Given the description of an element on the screen output the (x, y) to click on. 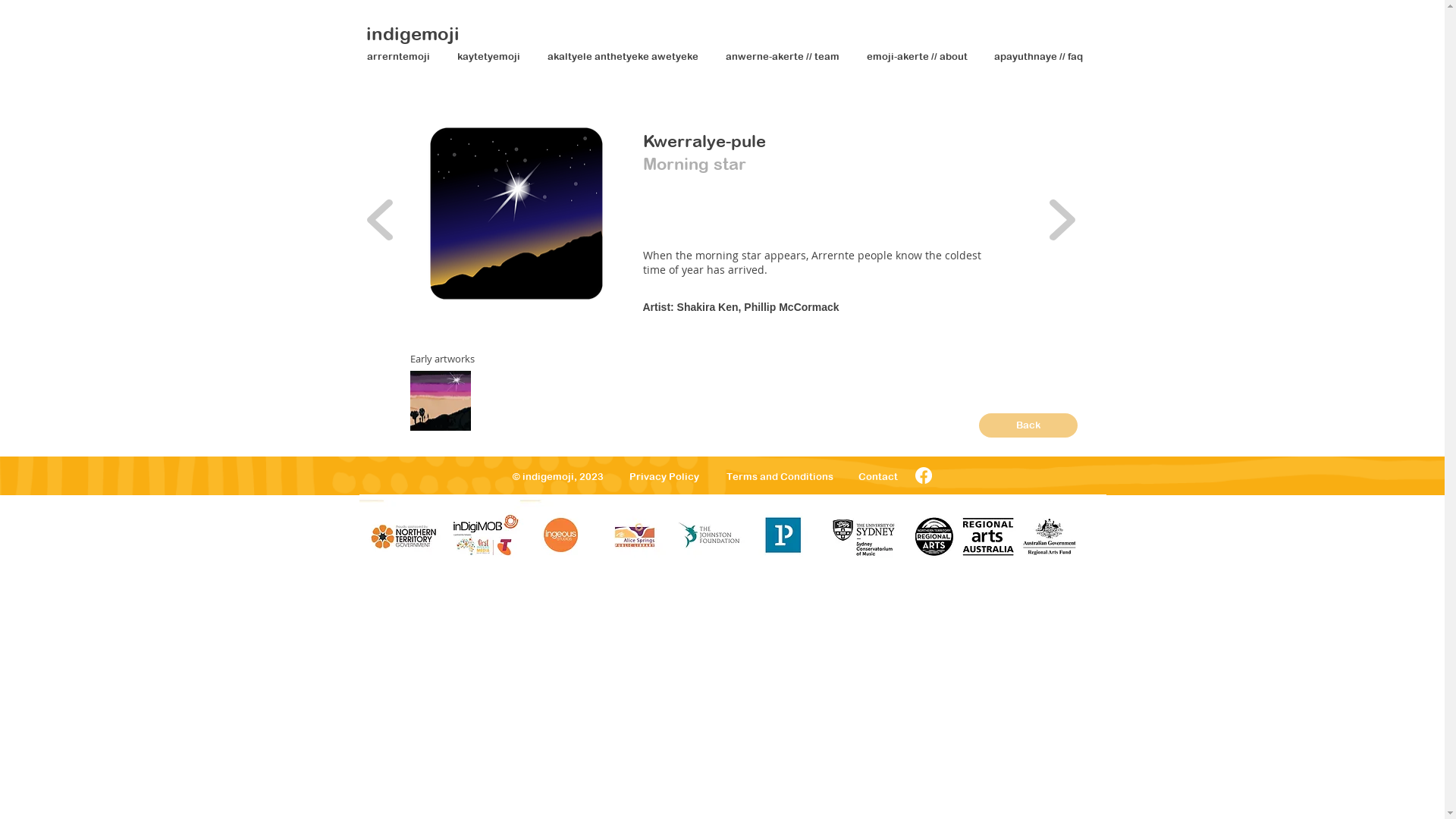
star.jpg Element type: hover (439, 400)
kaytetyemoji Element type: text (490, 56)
anwerne-akerte // team Element type: text (784, 56)
kwerralyepule.png Element type: hover (515, 213)
indigemoji Element type: text (411, 33)
arrerntemoji Element type: text (399, 56)
Back Element type: text (1027, 425)
emoji-akerte // about Element type: text (918, 56)
apayuthnaye // faq Element type: text (1040, 56)
akaltyele anthetyeke awetyeke Element type: text (624, 56)
